Given the description of an element on the screen output the (x, y) to click on. 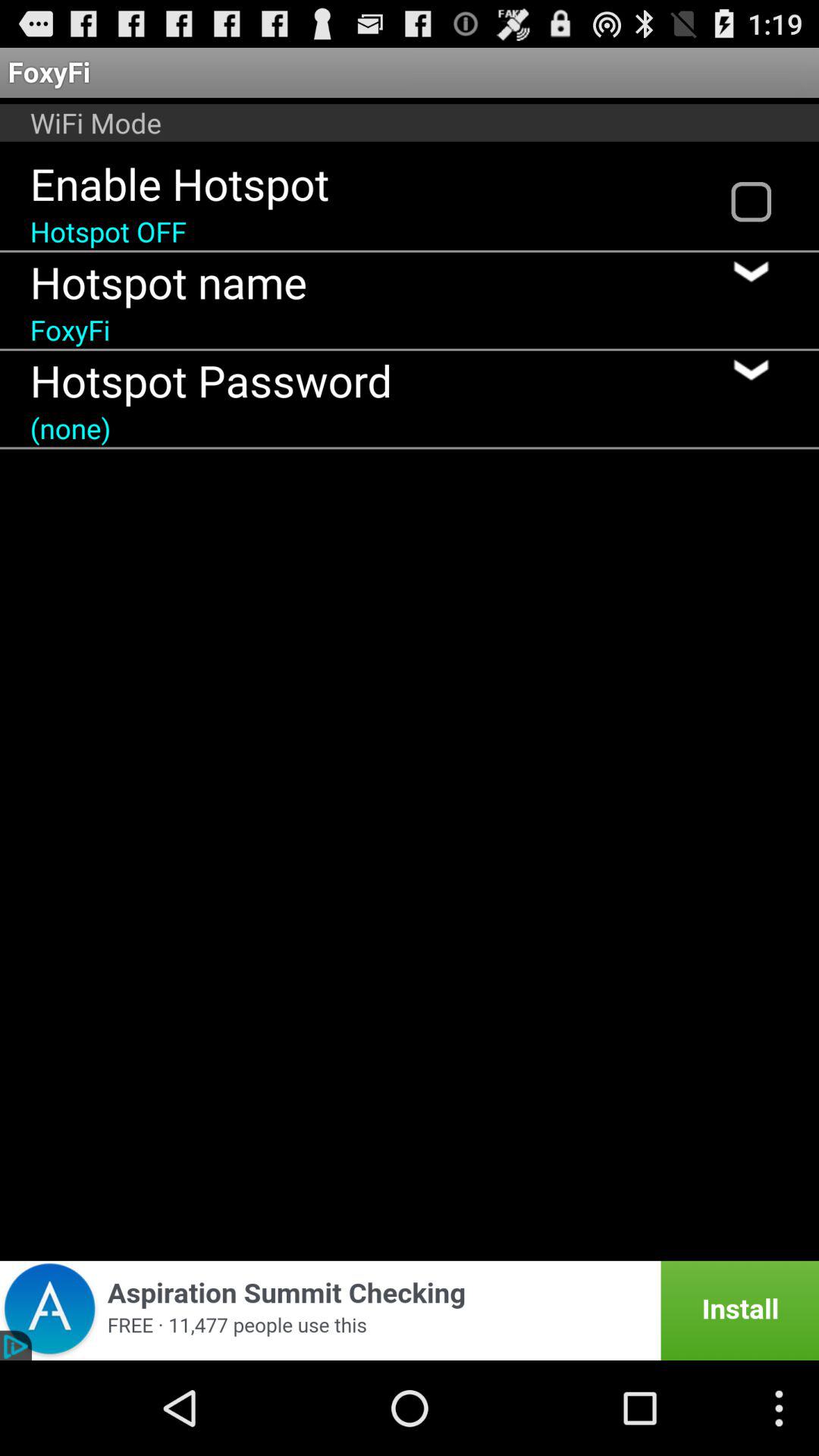
details about advertisement (409, 1310)
